Given the description of an element on the screen output the (x, y) to click on. 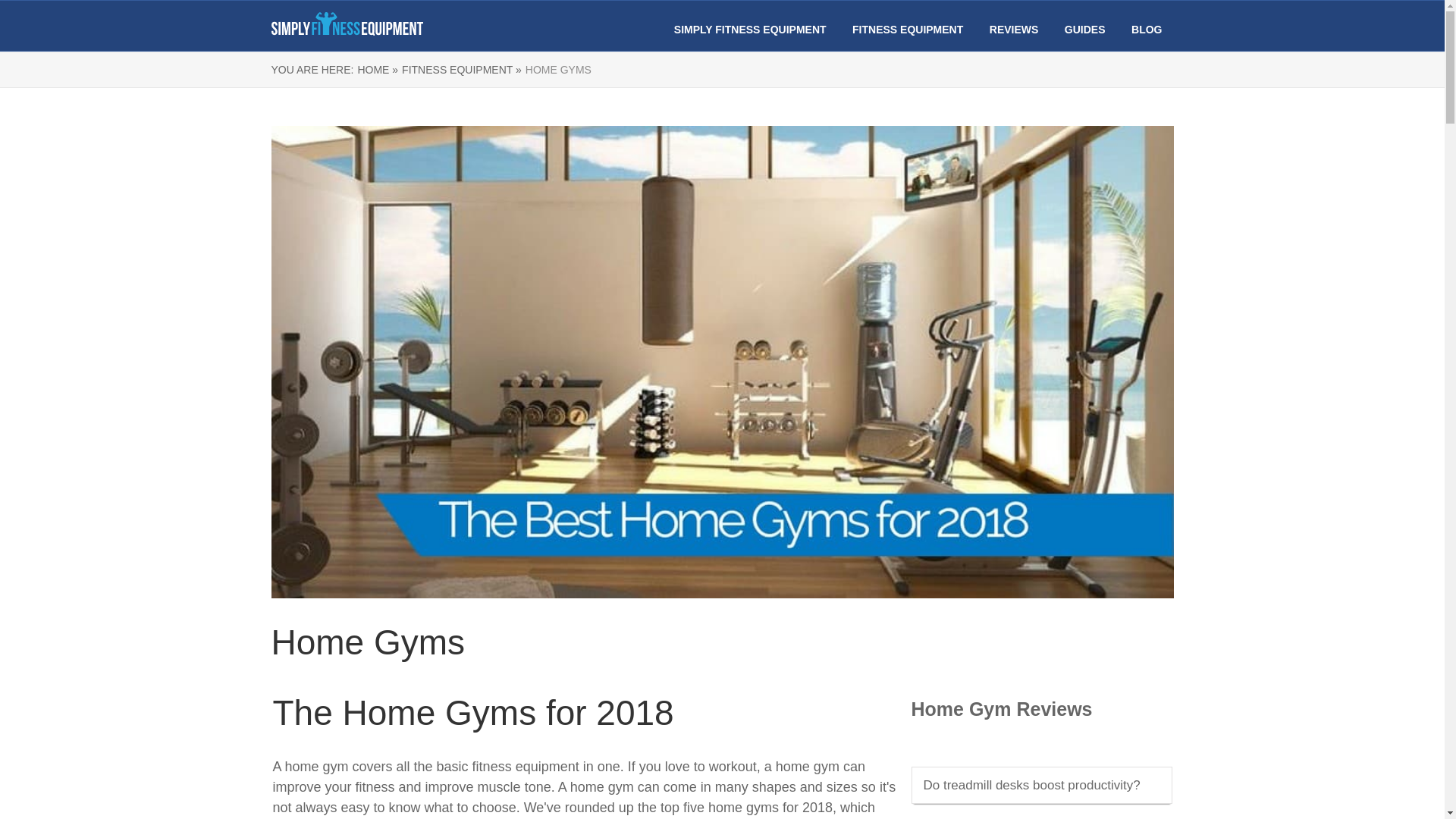
SIMPLY FITNESS EQUIPMENT (750, 29)
Do treadmill desks boost productivity? (1031, 785)
BLOG (1146, 29)
FITNESS EQUIPMENT (906, 29)
REVIEWS (1014, 29)
GUIDES (1084, 29)
